Given the description of an element on the screen output the (x, y) to click on. 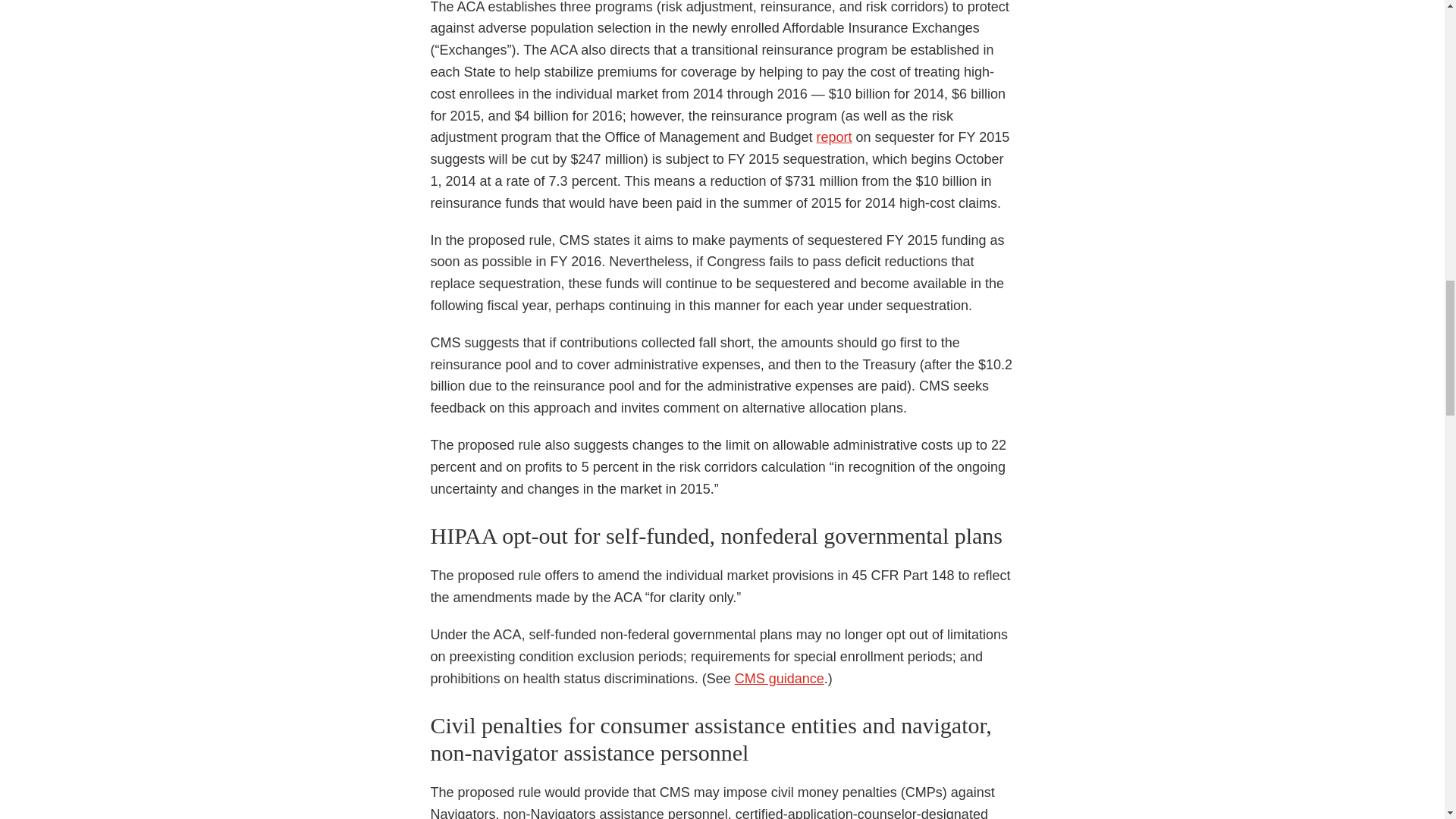
report (833, 136)
CMS guidance (779, 678)
